Given the description of an element on the screen output the (x, y) to click on. 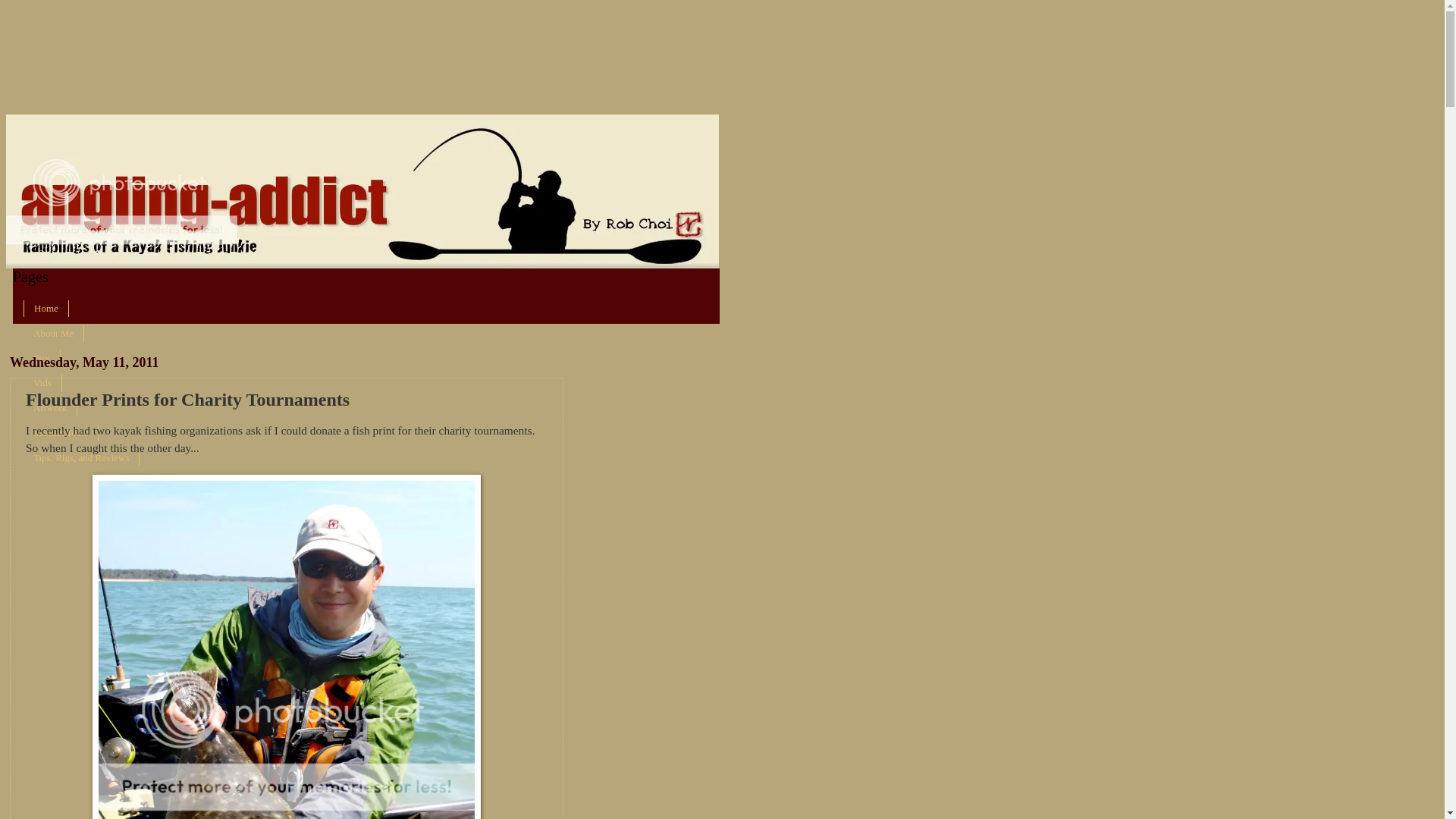
Vids (42, 383)
Tips, Rigs, and Reviews (81, 457)
Pics (42, 357)
Artwork (50, 407)
About Me (53, 334)
Internet Tools (61, 433)
Home (45, 308)
